Given the description of an element on the screen output the (x, y) to click on. 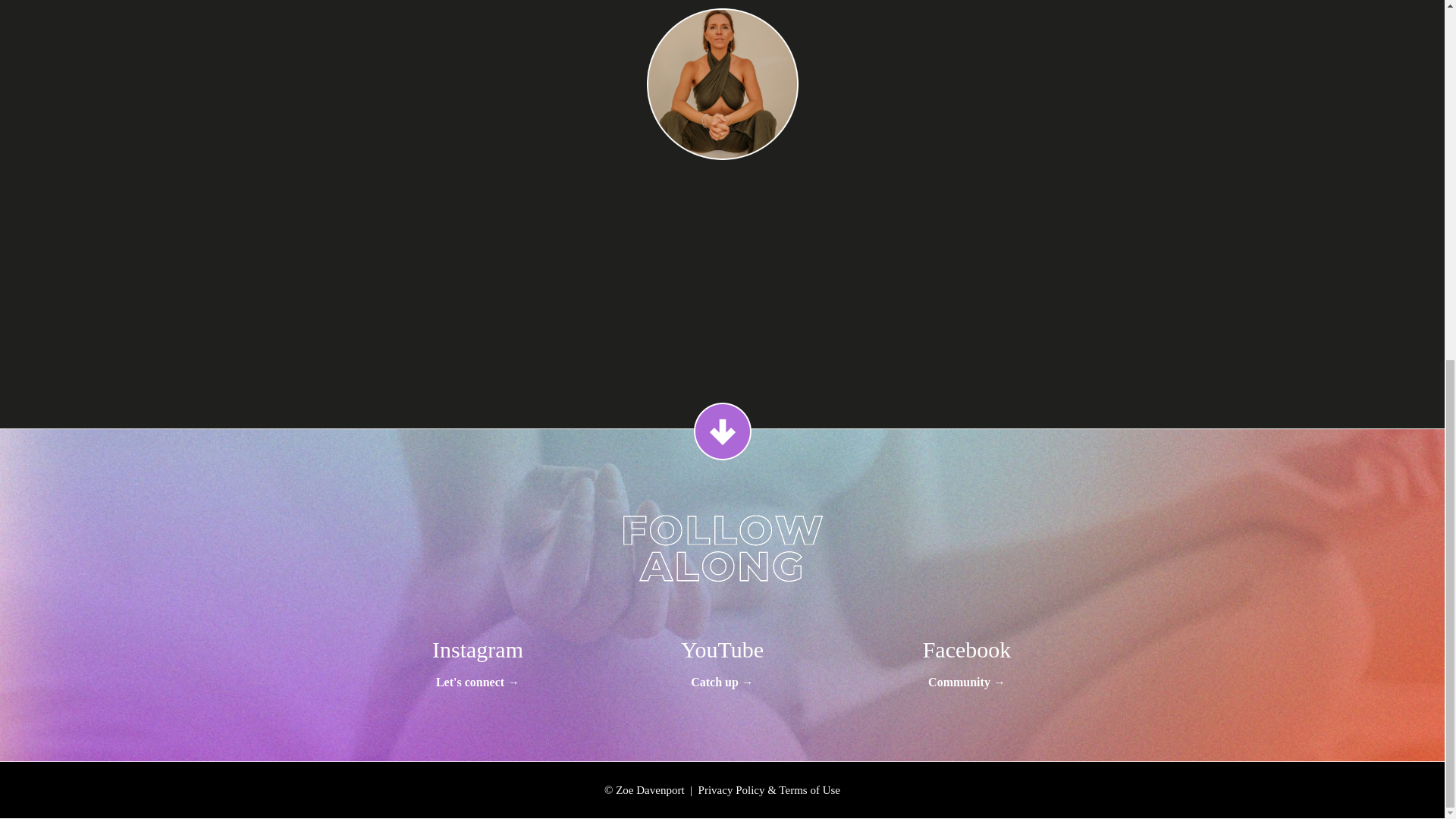
YouTube (721, 649)
Instagram (477, 649)
